Given the description of an element on the screen output the (x, y) to click on. 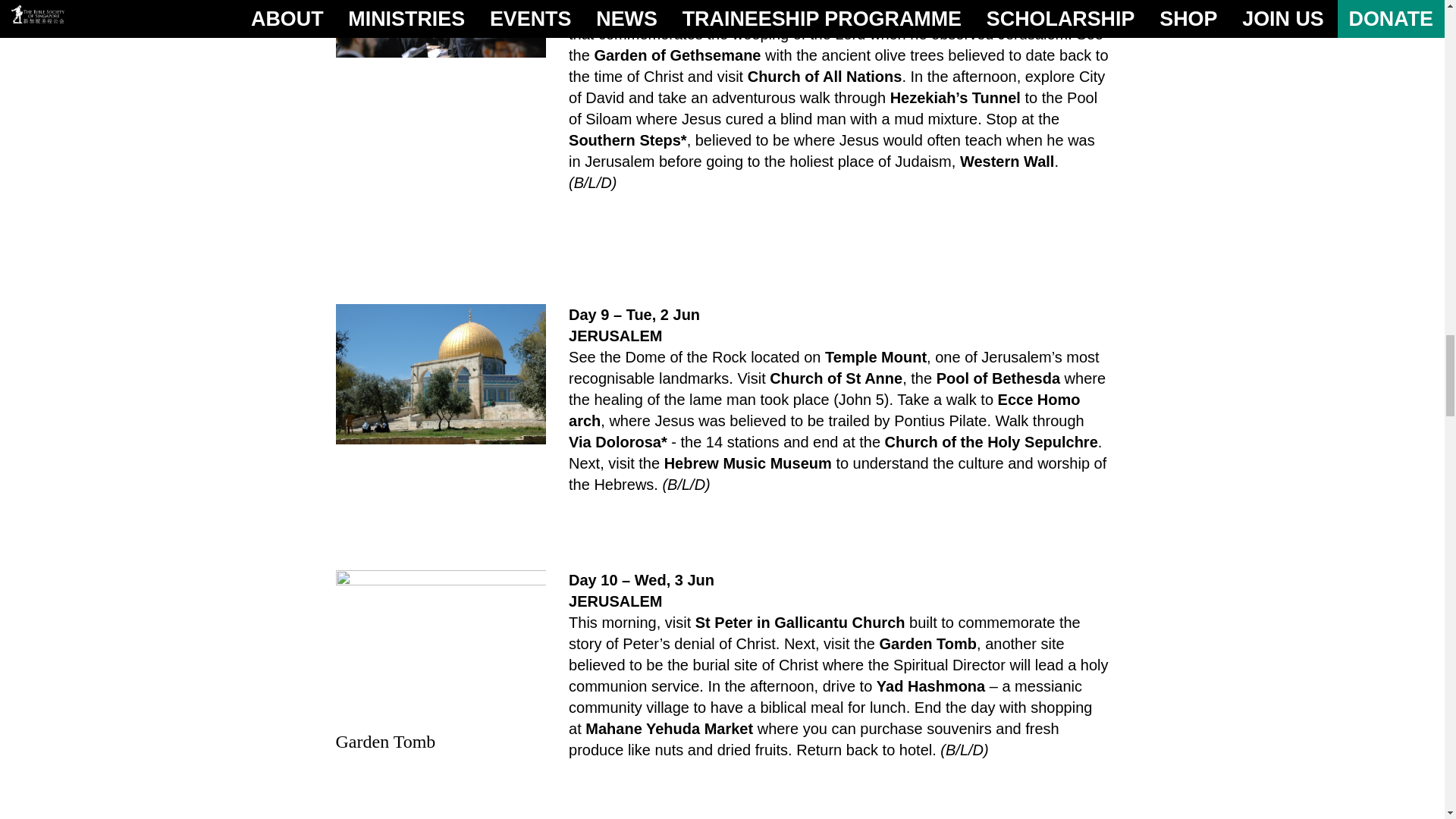
Garden Tomb (440, 648)
Western Wall (440, 28)
Temple Mount (440, 373)
